Given the description of an element on the screen output the (x, y) to click on. 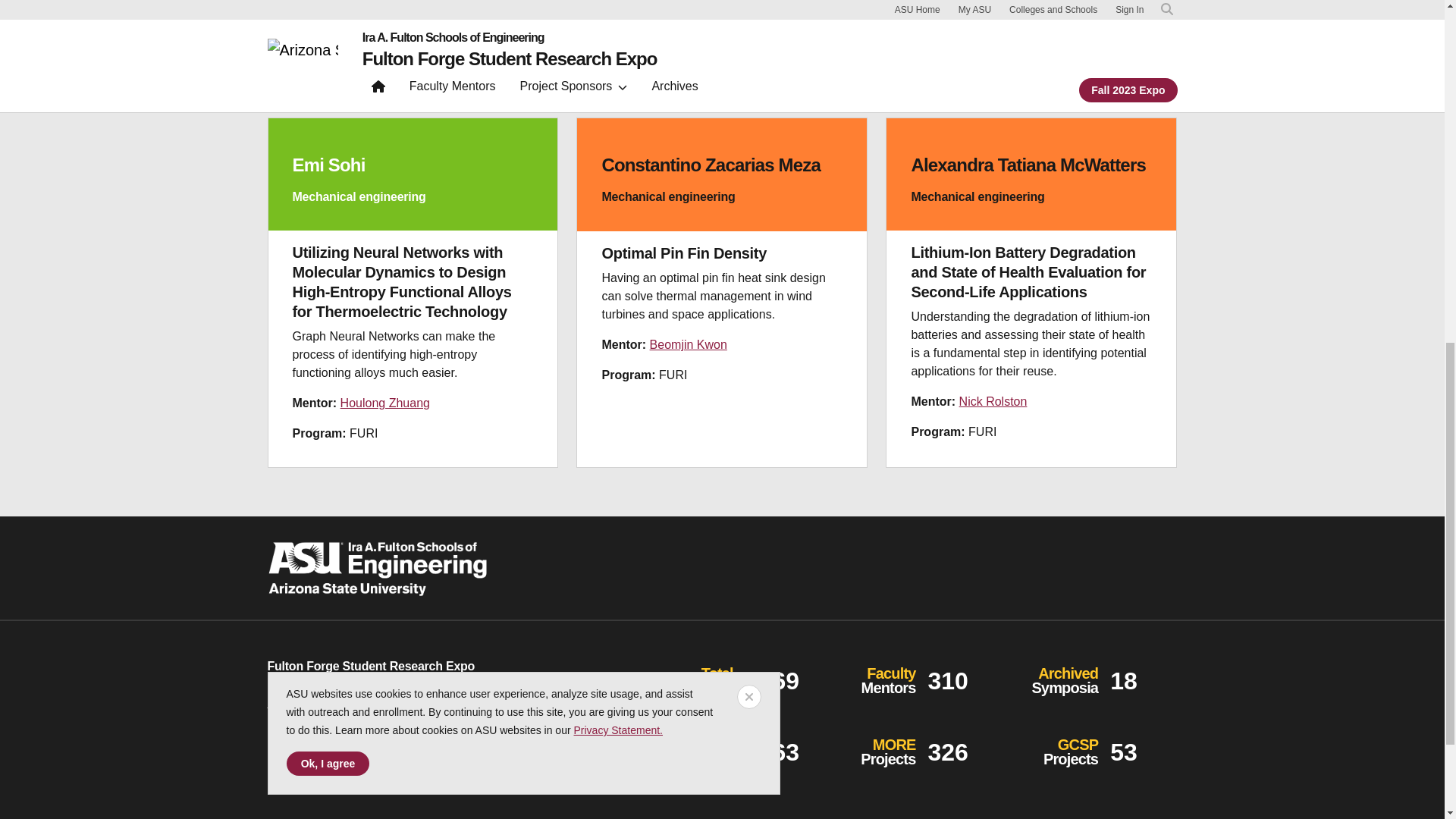
Optimal Pin Fin Density (684, 252)
Beomjin Kwon (687, 344)
Houlong Zhuang (384, 402)
Contact Us (296, 702)
Nick Rolston (993, 400)
Contribute (322, 754)
